Given the description of an element on the screen output the (x, y) to click on. 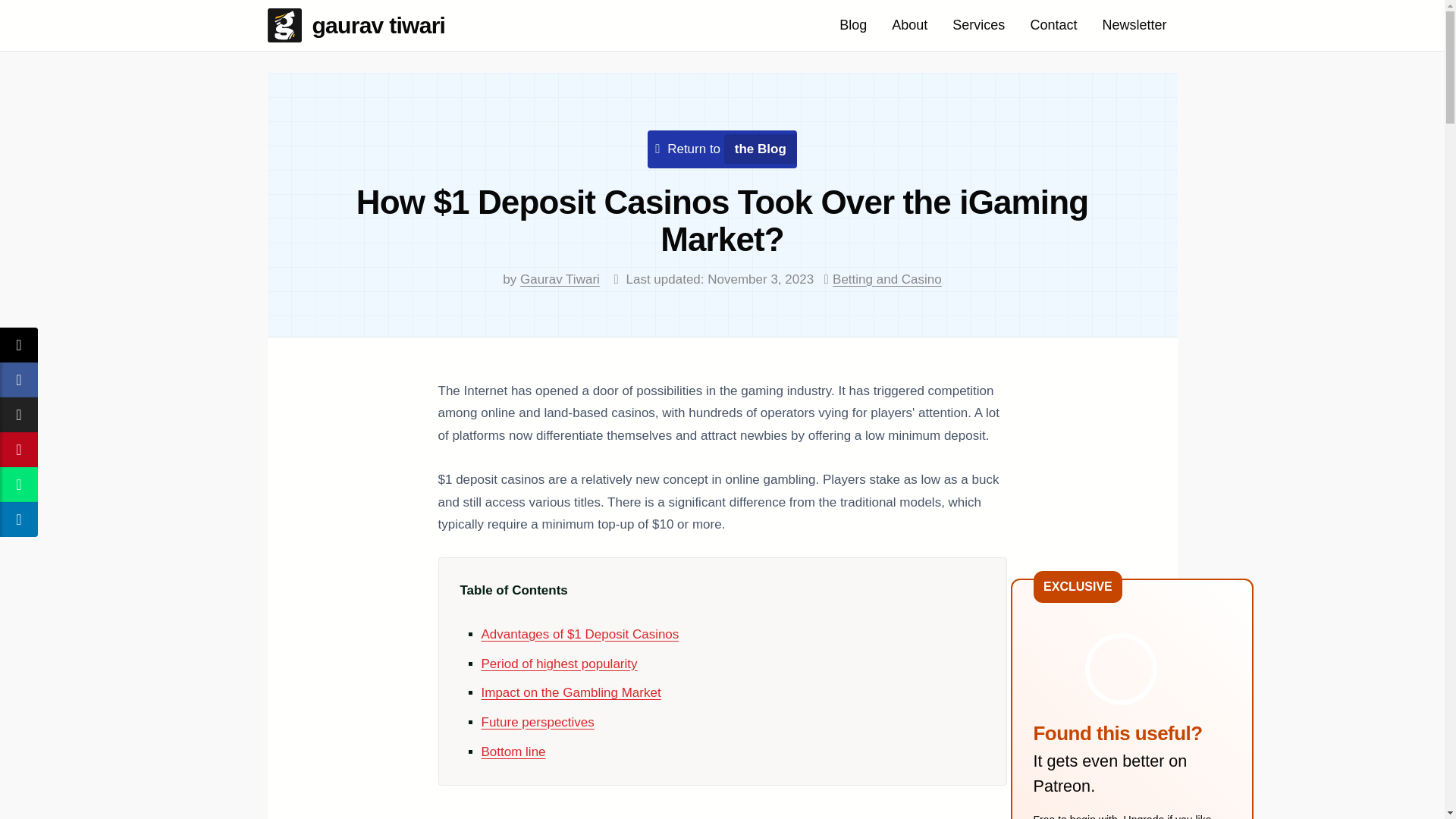
Betting and Casino (887, 278)
Blog (852, 25)
Return to the Blog (725, 148)
Impact on the Gambling Market (570, 692)
Bottom line (512, 751)
gaurav tiwari (360, 25)
Period of highest popularity (558, 663)
Contact (1053, 25)
Services (978, 25)
Future perspectives (537, 721)
